Given the description of an element on the screen output the (x, y) to click on. 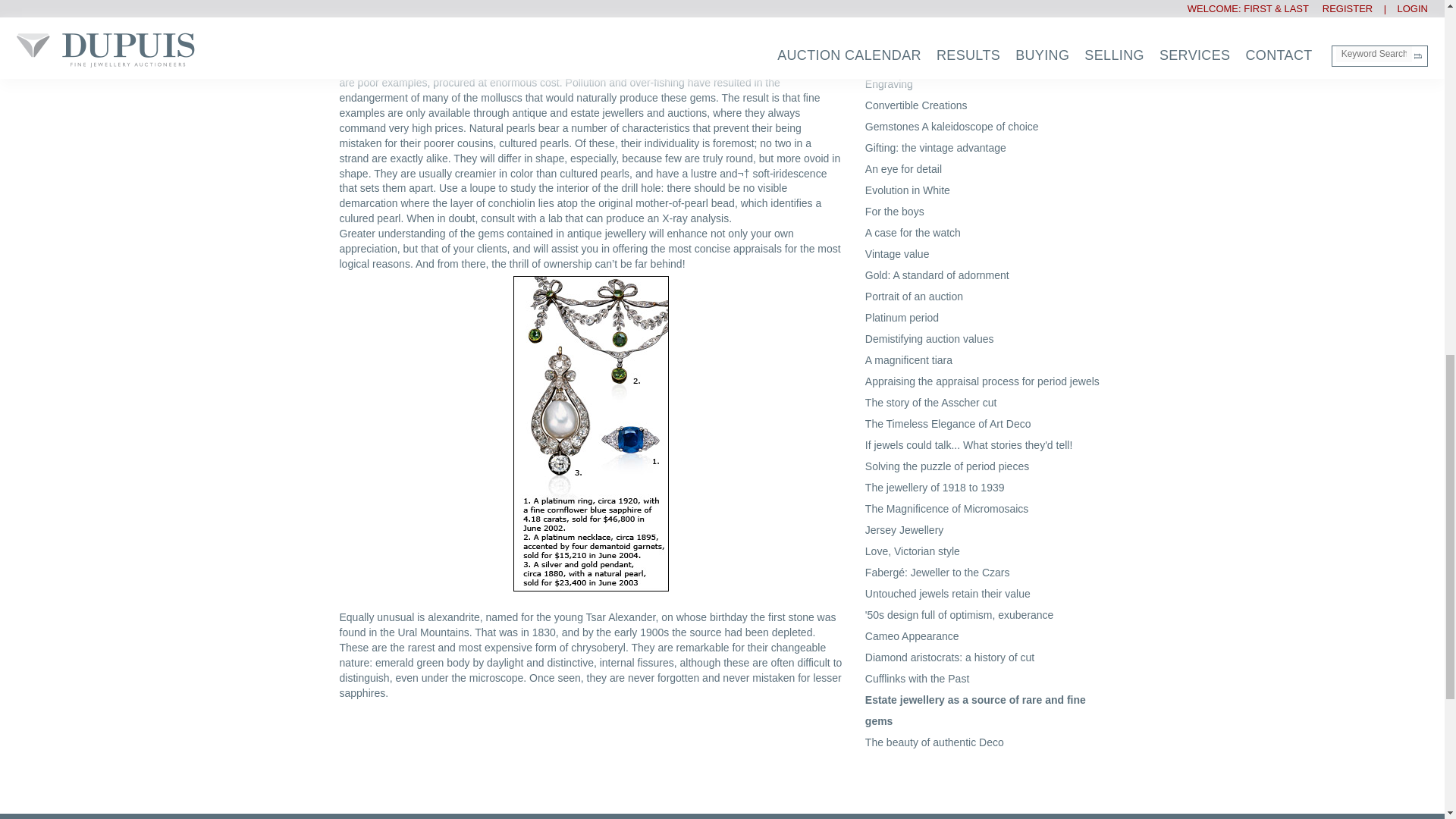
Queen for a day (902, 20)
World of Watches (906, 2)
Future Connections (911, 41)
Function follows form (914, 62)
Convertible Creations (916, 105)
Engraving (888, 83)
